Given the description of an element on the screen output the (x, y) to click on. 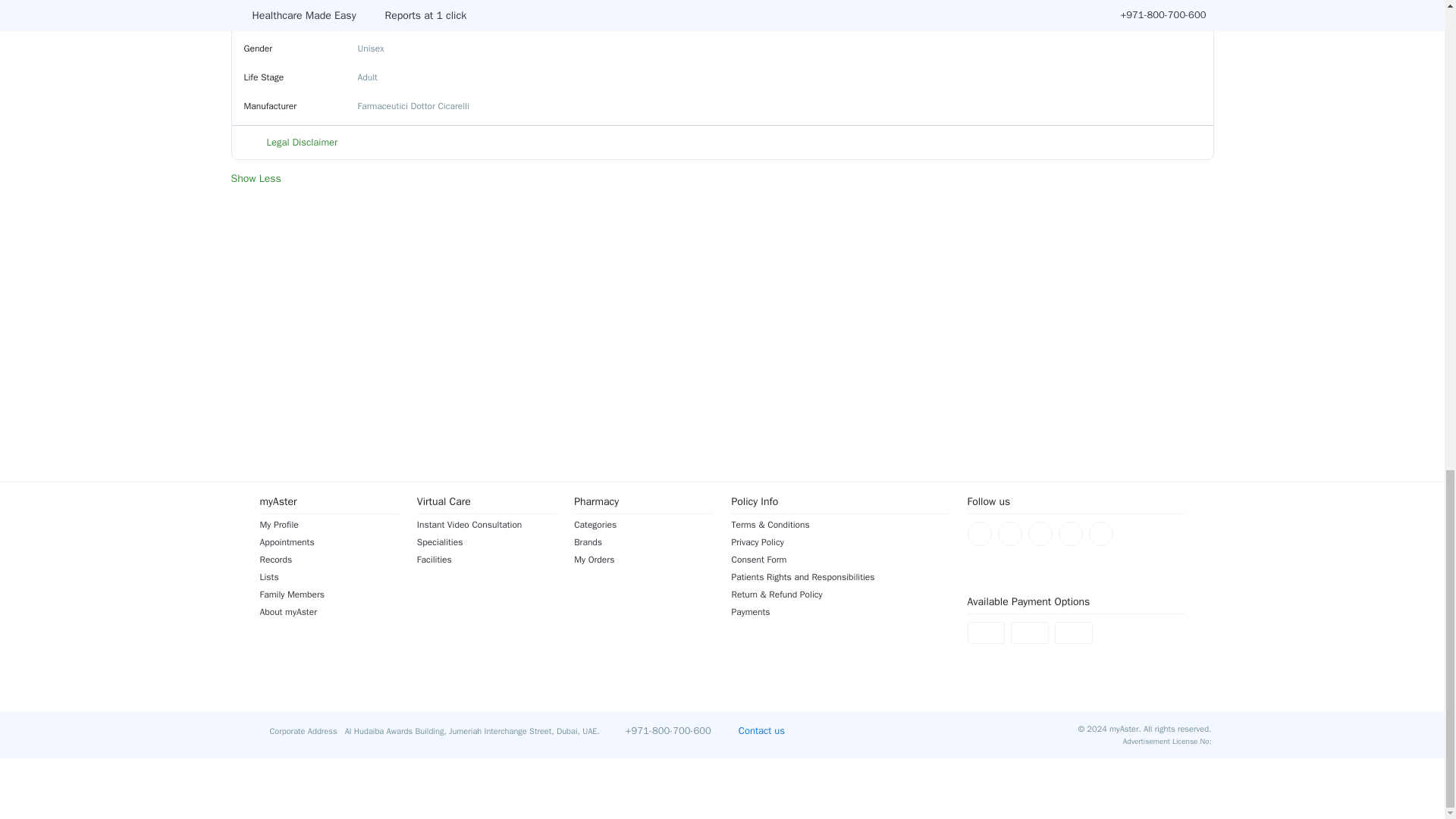
Family Members (328, 594)
Privacy Policy (839, 541)
About myAster (328, 612)
Specialities (486, 541)
Brands (643, 541)
My Profile (328, 524)
Appointments (328, 541)
Payments (839, 612)
Lists (328, 576)
Facilities (486, 559)
